Given the description of an element on the screen output the (x, y) to click on. 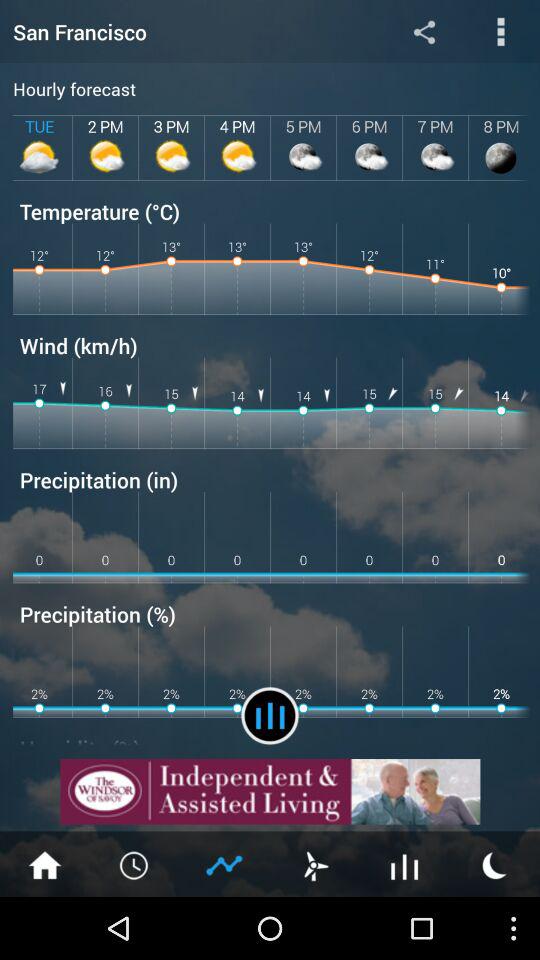
click to forcast option (405, 864)
